Given the description of an element on the screen output the (x, y) to click on. 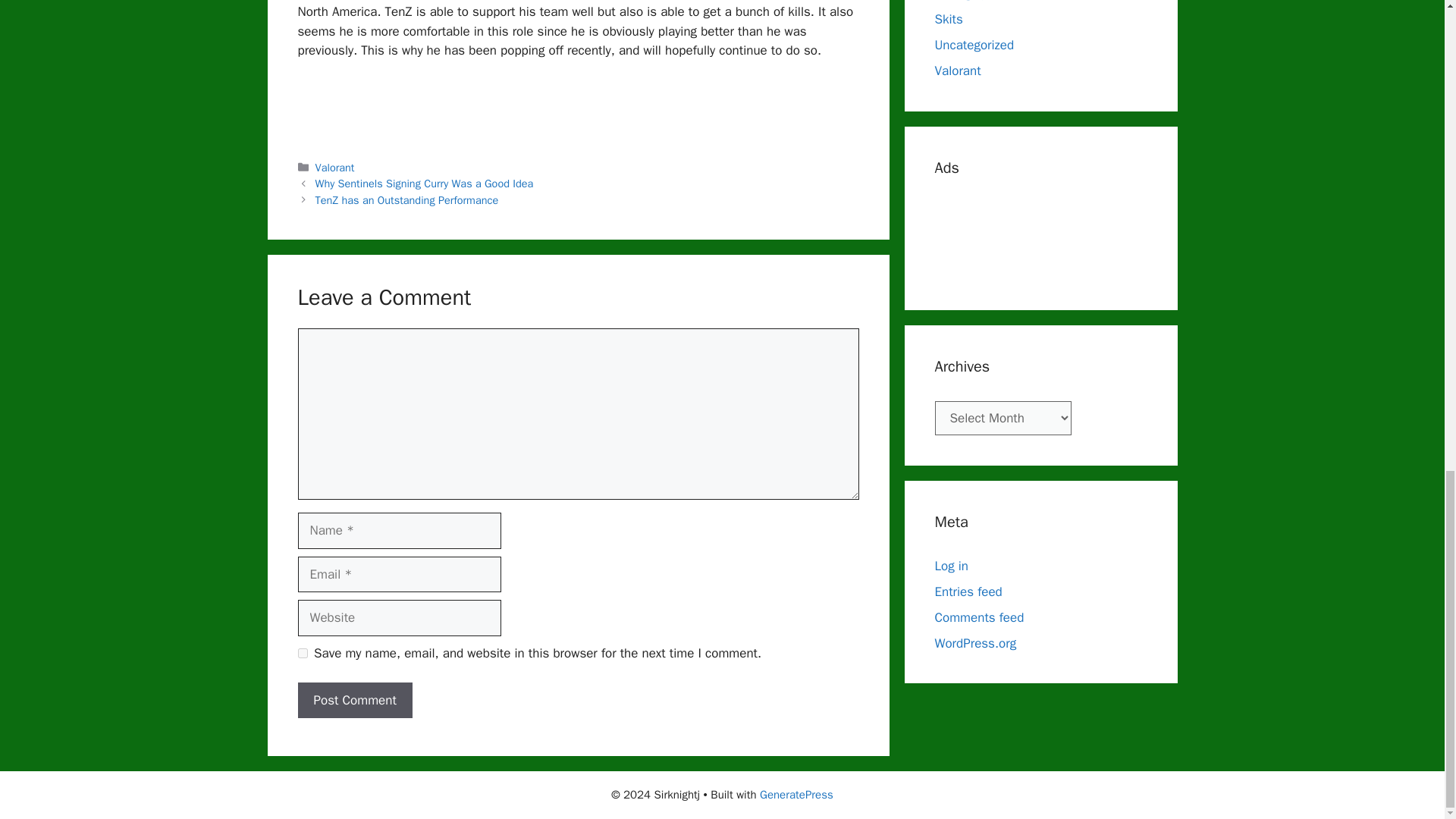
Valorant (335, 167)
yes (302, 653)
Why Sentinels Signing Curry Was a Good Idea (424, 183)
Post Comment (354, 700)
Post Comment (354, 700)
TenZ has an Outstanding Performance (407, 200)
Scroll back to top (1406, 422)
